Given the description of an element on the screen output the (x, y) to click on. 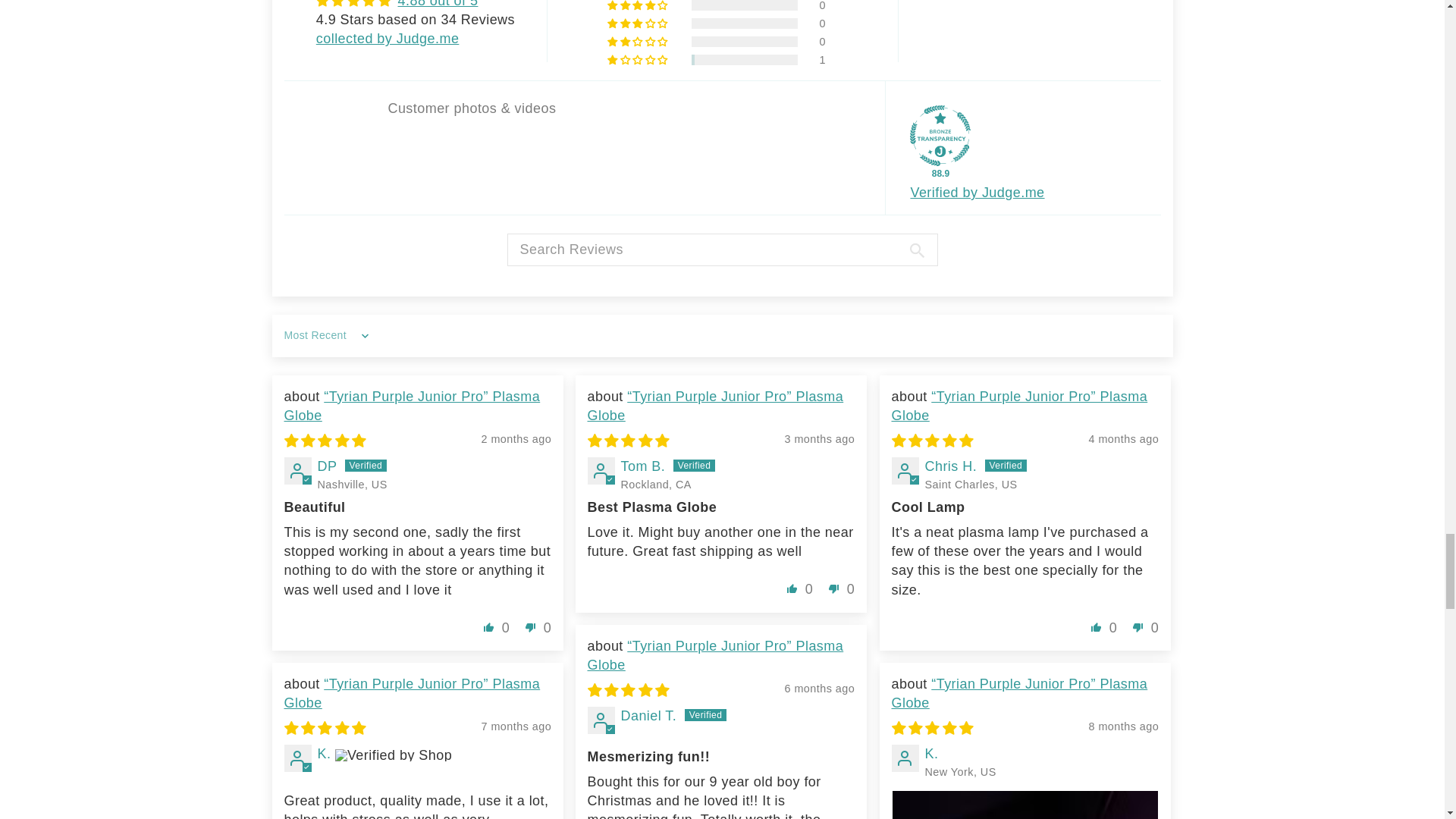
up (488, 626)
down (1137, 626)
down (530, 626)
down (833, 588)
up (1096, 626)
up (792, 588)
